Given the description of an element on the screen output the (x, y) to click on. 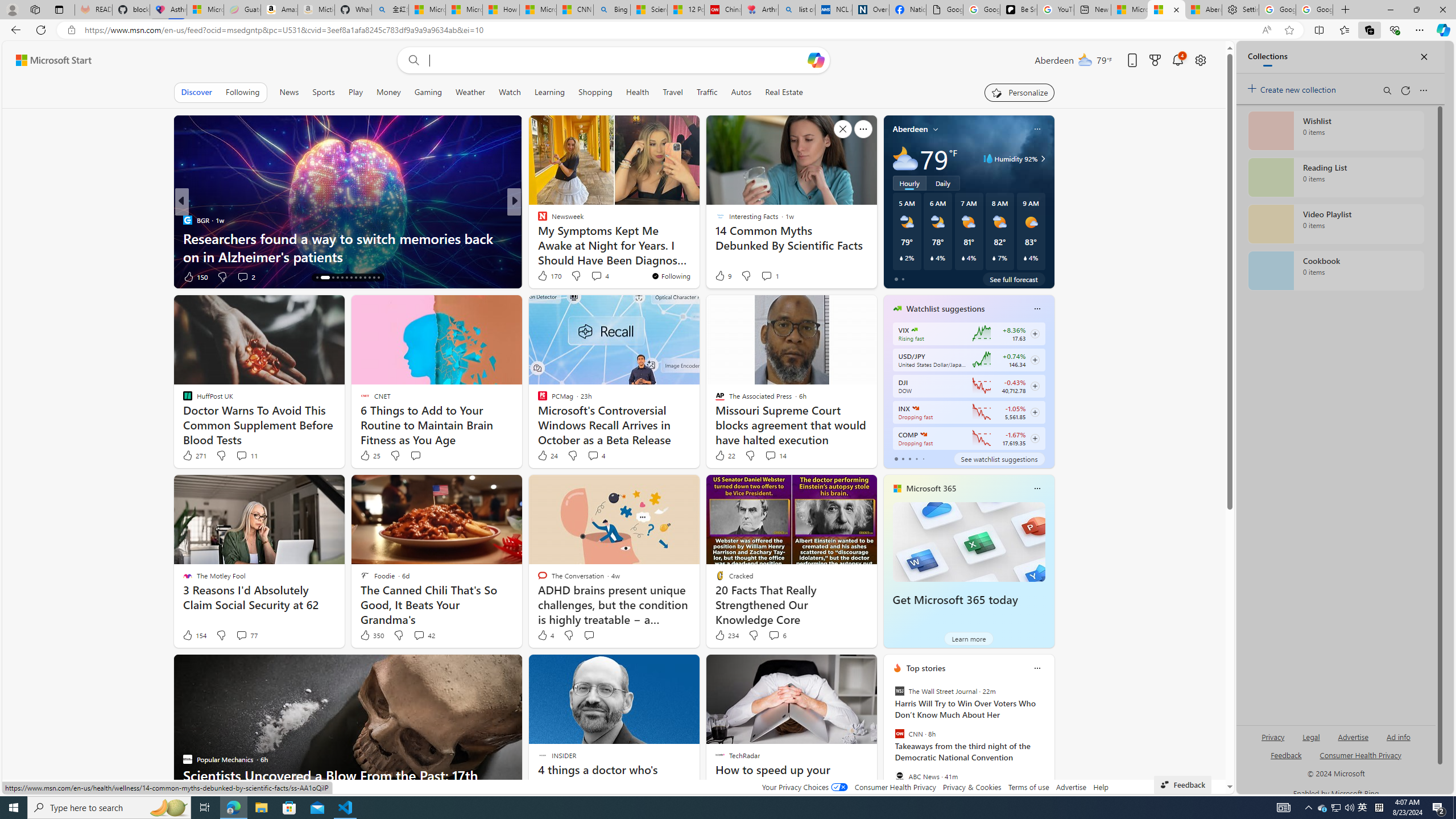
22 Like (724, 455)
Kinda Frugal (537, 238)
AutomationID: tab-24 (368, 277)
Autos (740, 92)
Class: icon-img (1037, 668)
View comments 42 Comment (423, 634)
View comments 6 Comment (773, 635)
